Given the description of an element on the screen output the (x, y) to click on. 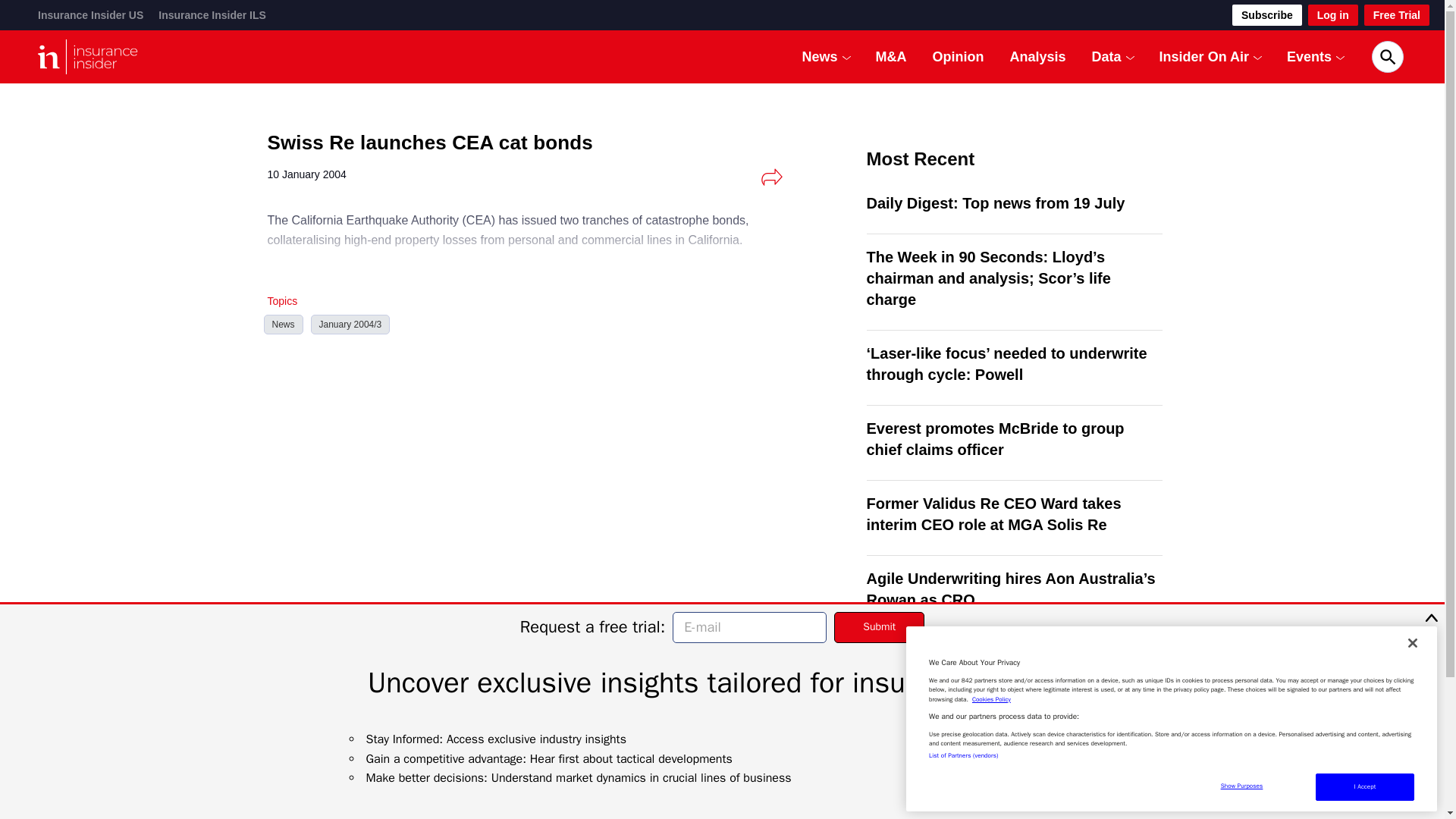
News (820, 56)
Insurance Insider ILS (212, 14)
Opinion (958, 56)
Insurance Insider US (89, 14)
Analysis (1037, 56)
Share (771, 177)
Subscribe (1266, 14)
Free Trial (1396, 14)
Log in (1332, 14)
Submit (879, 626)
